Given the description of an element on the screen output the (x, y) to click on. 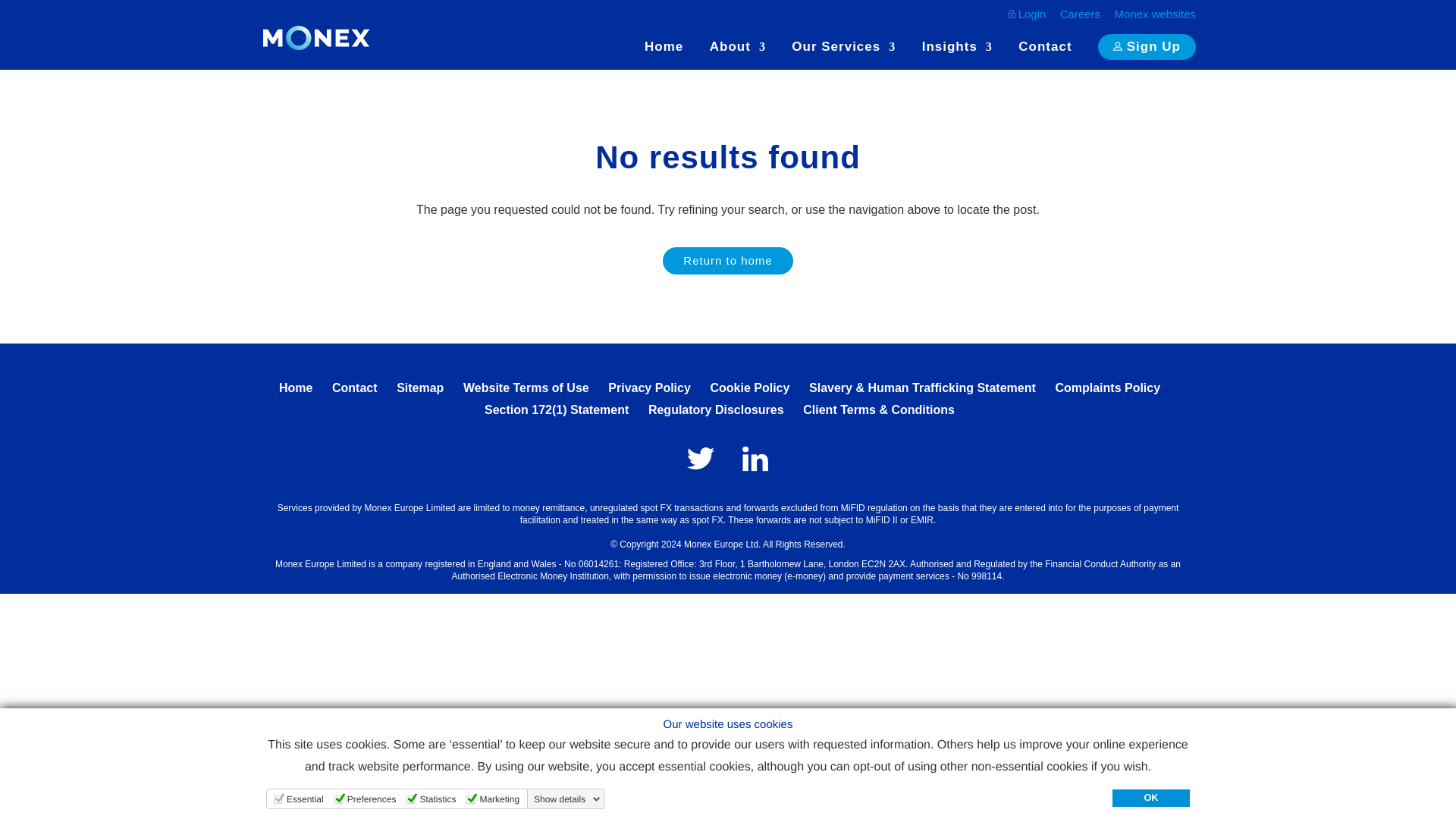
About (737, 54)
Login (1026, 19)
Monex websites (1154, 17)
Insights (956, 54)
Home (663, 54)
Our Services (843, 54)
Careers (1079, 17)
